Given the description of an element on the screen output the (x, y) to click on. 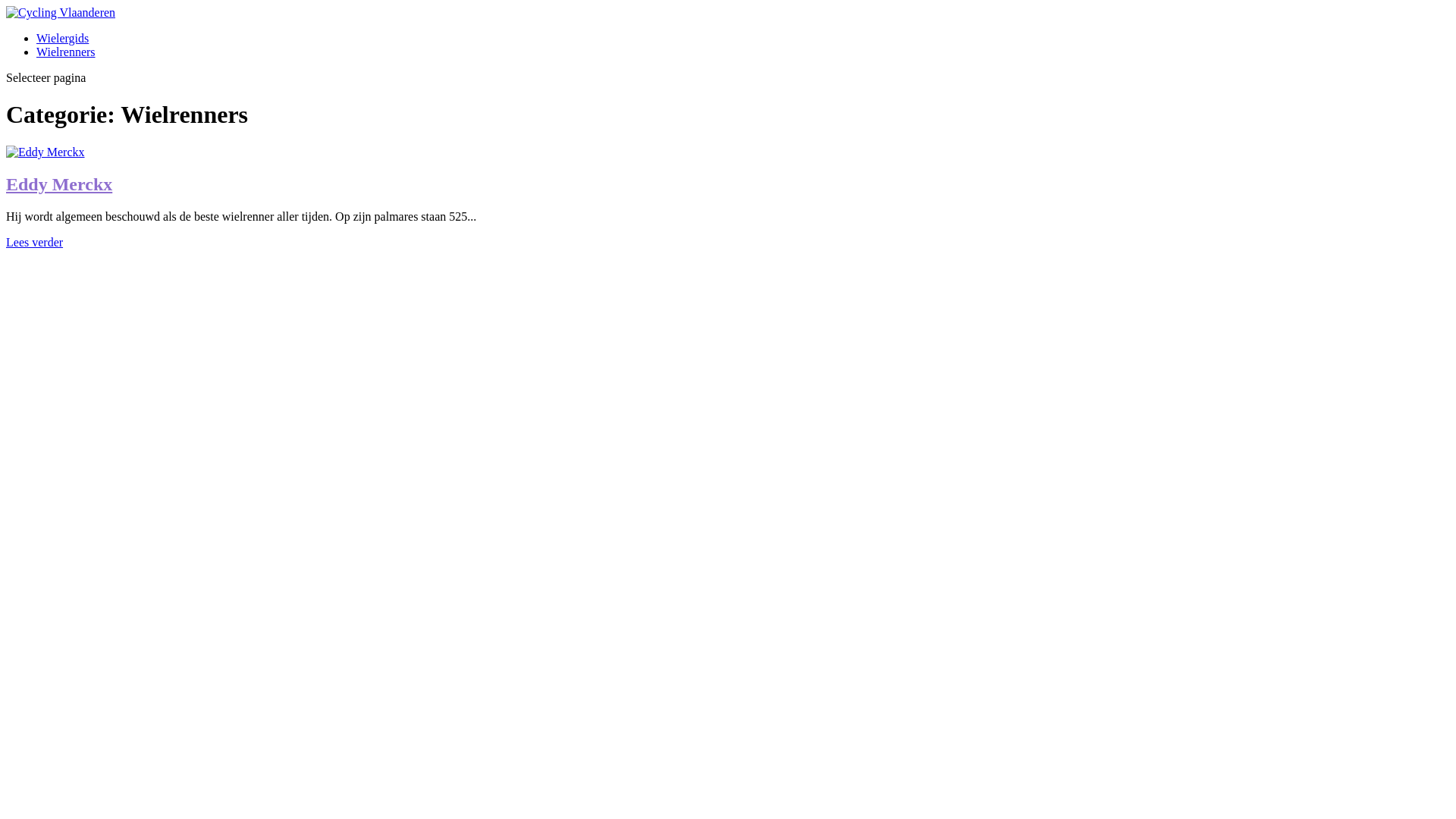
Wielergids Element type: text (62, 37)
Eddy Merckx Element type: text (59, 184)
Wielrenners Element type: text (65, 51)
Lees verder Element type: text (34, 241)
Eddy Merckx Element type: hover (45, 151)
